Given the description of an element on the screen output the (x, y) to click on. 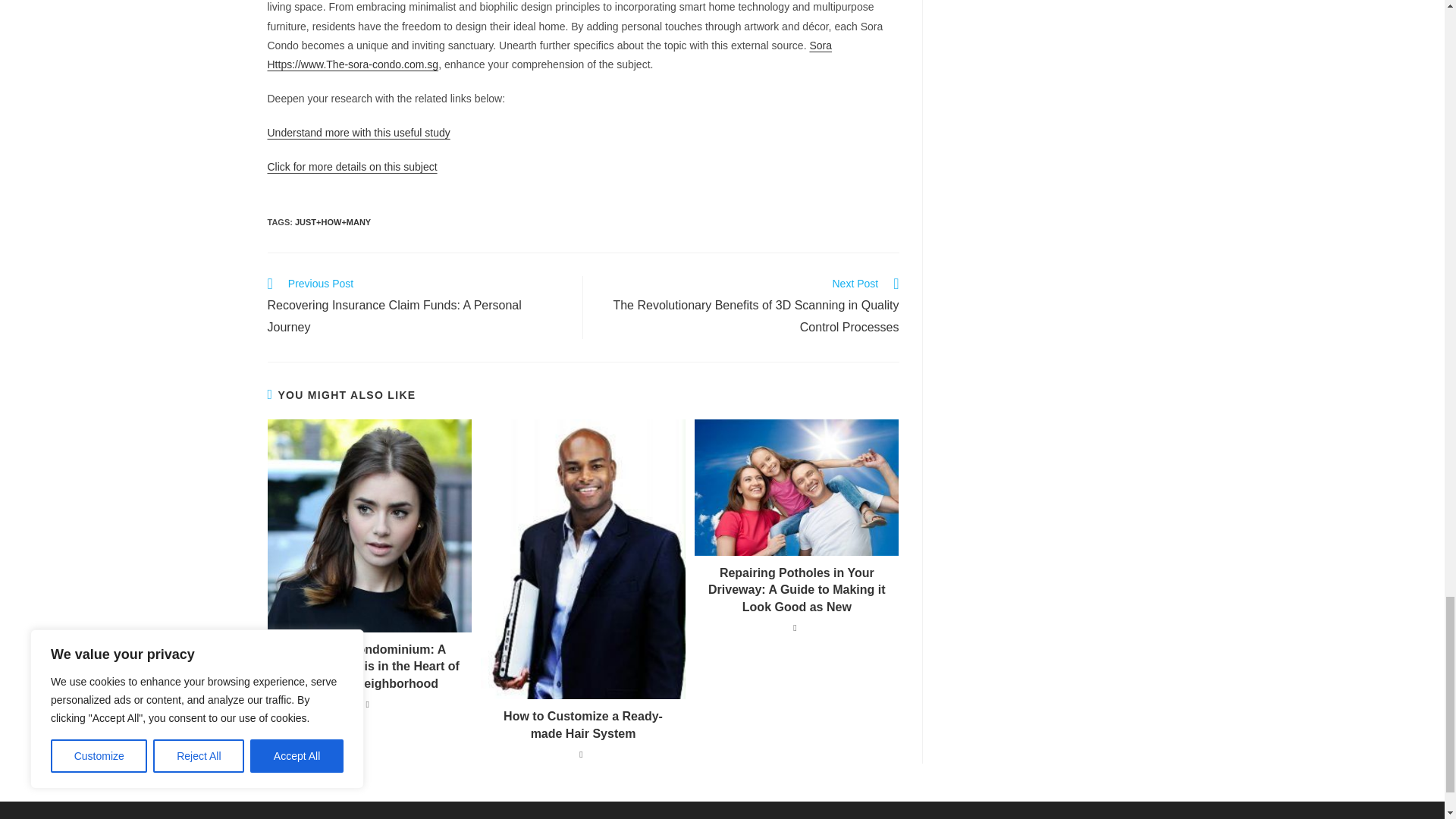
Click for more details on this subject (351, 166)
Understand more with this useful study (357, 132)
